Given the description of an element on the screen output the (x, y) to click on. 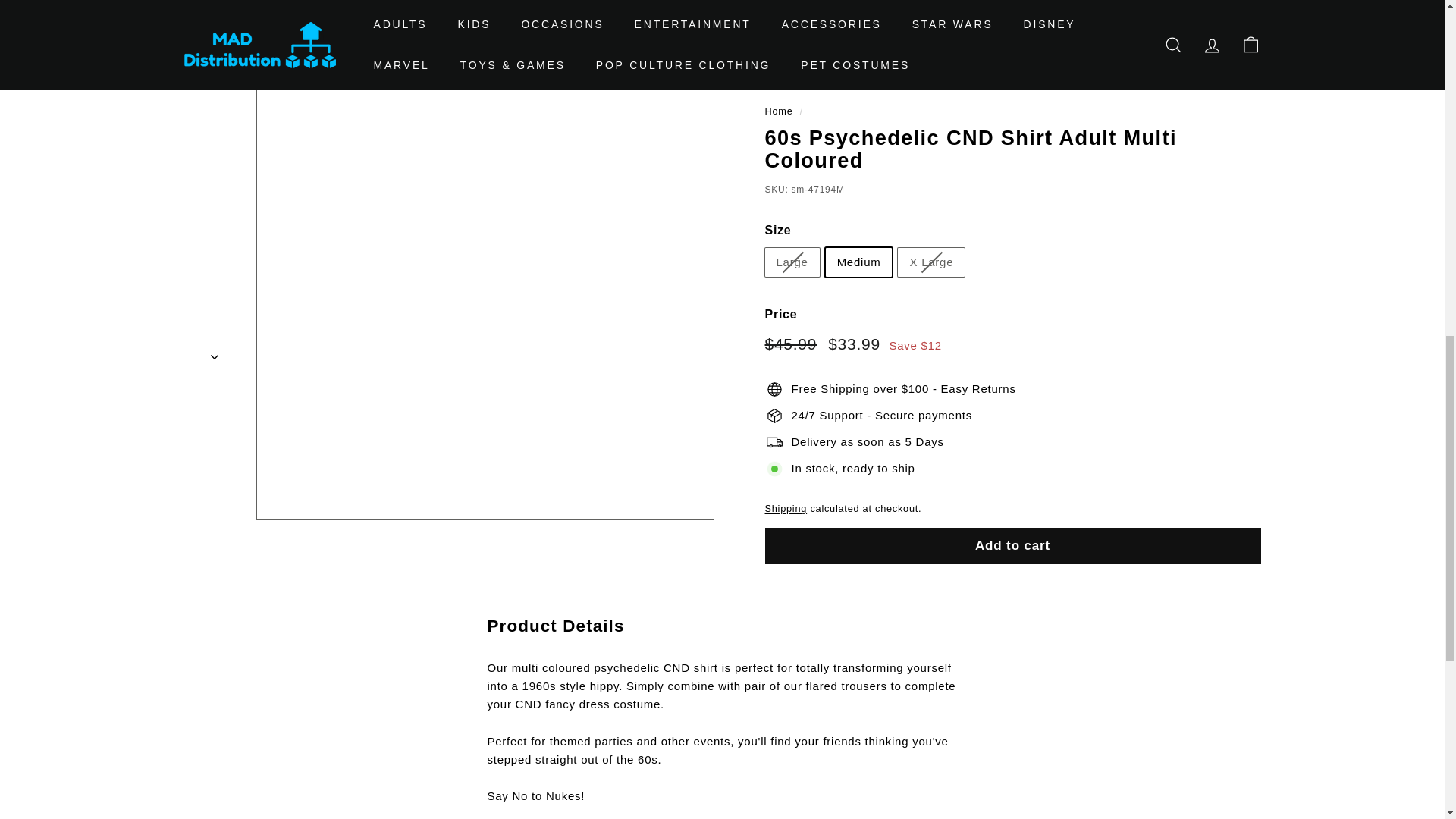
Back to the frontpage (778, 111)
